Given the description of an element on the screen output the (x, y) to click on. 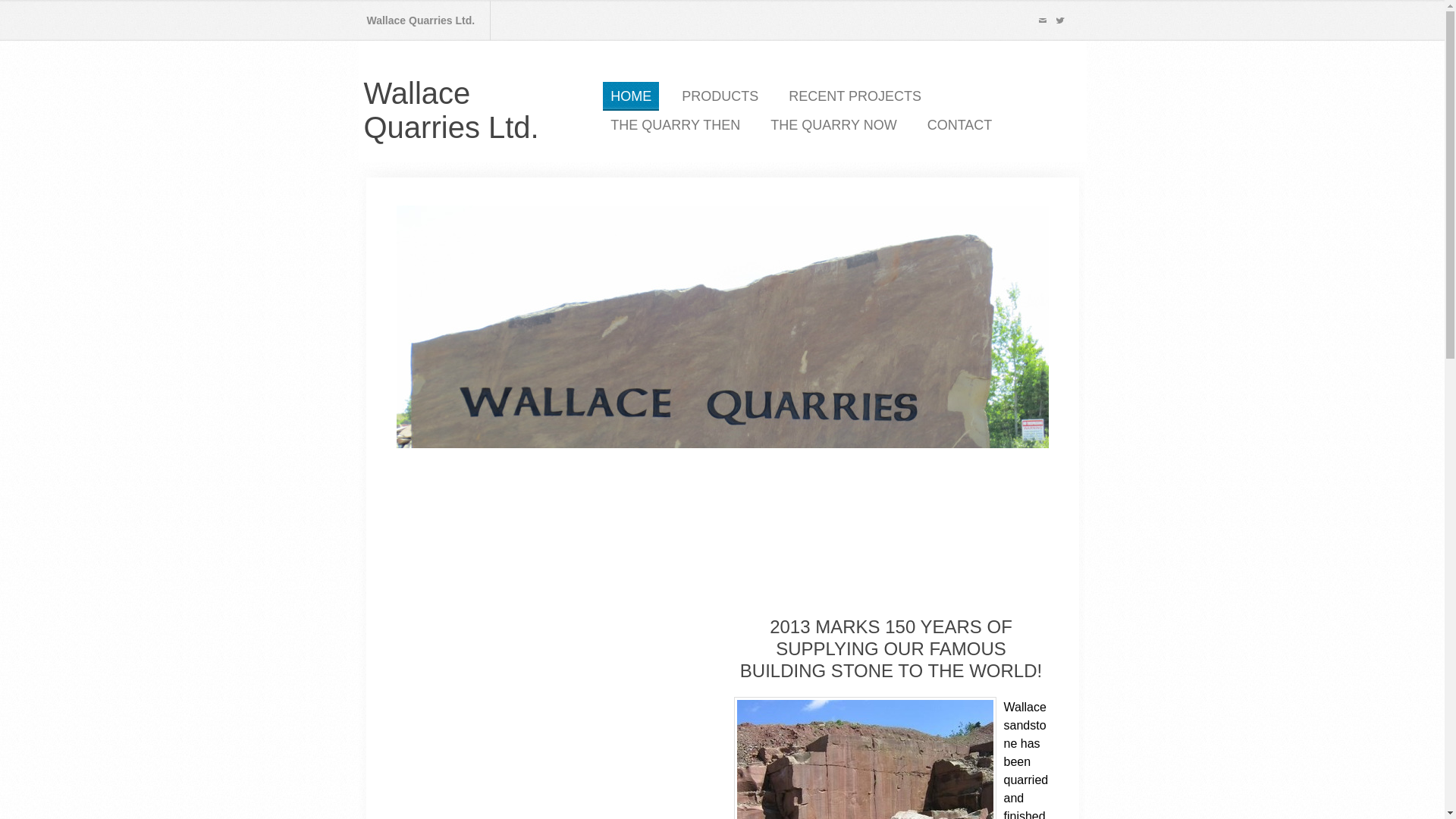
CONTACT (960, 124)
PRODUCTS (719, 95)
HOME (630, 95)
THE QUARRY THEN (675, 124)
Wallace Quarries Ltd. (451, 110)
RECENT PROJECTS (854, 95)
THE QUARRY NOW (833, 124)
